Given the description of an element on the screen output the (x, y) to click on. 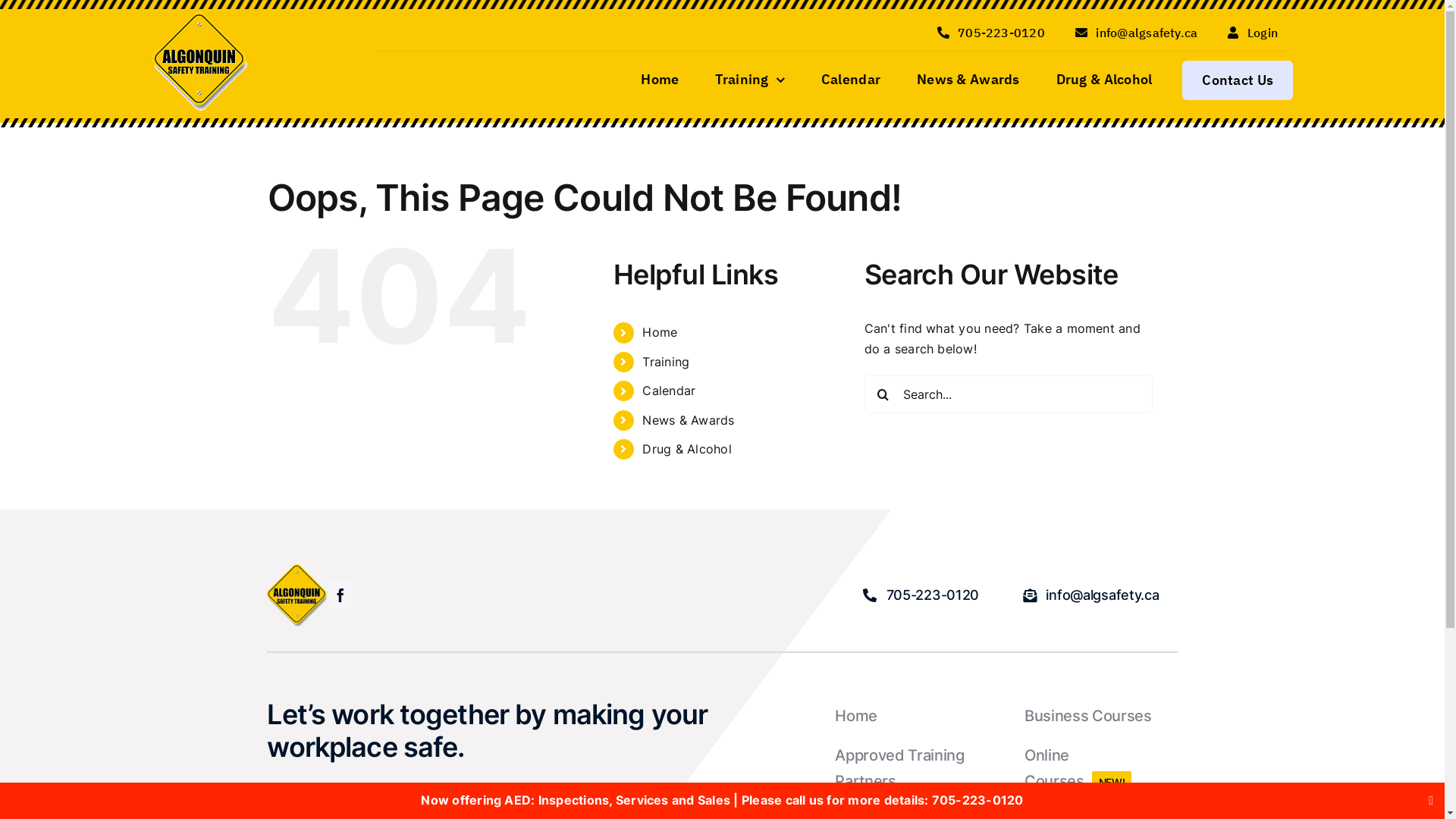
Business Courses Element type: text (1100, 716)
Contact Us Element type: text (1237, 80)
News & Awards Element type: text (967, 79)
705-223-0120 Element type: text (920, 595)
Home Element type: text (659, 331)
News & Awards Element type: text (688, 419)
Drug & Alcohol Element type: text (1104, 79)
705-223-0120 Element type: text (991, 31)
Drug & Alcohol Element type: text (686, 448)
info@algsafety.ca Element type: text (1090, 595)
Algonquin-Safety200x200 Element type: hover (296, 595)
Login Element type: text (1252, 31)
Calendar Element type: text (850, 79)
Training Element type: text (749, 79)
Home Element type: text (911, 716)
Approved Training Partners Element type: text (911, 768)
Online CoursesNEW! Element type: text (1100, 768)
Home Element type: text (659, 79)
Calendar Element type: text (668, 390)
Training Element type: text (665, 361)
info@algsafety.ca Element type: text (1136, 31)
